Given the description of an element on the screen output the (x, y) to click on. 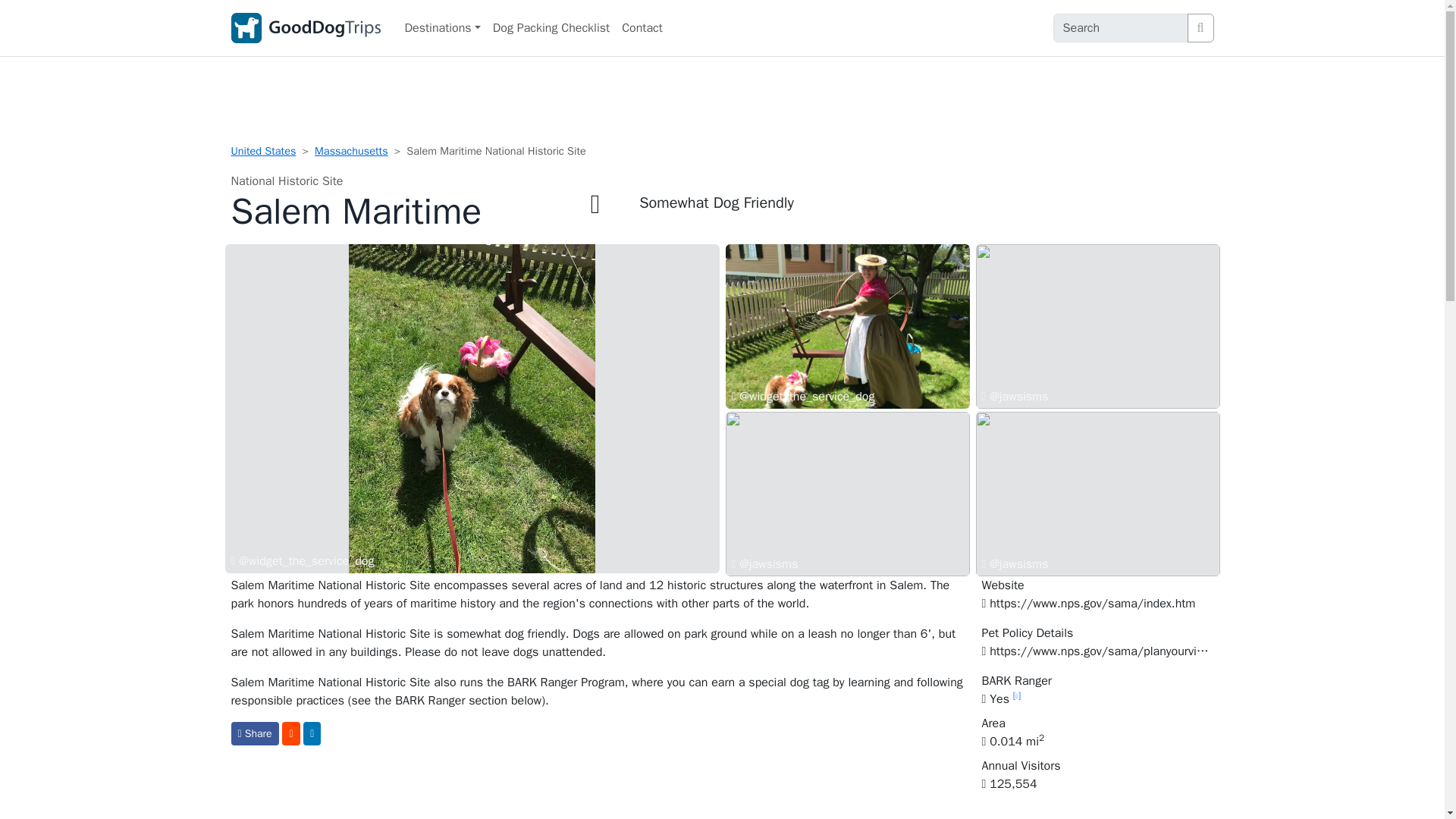
Destinations (442, 28)
Jump to BARK Ranger Policy (1000, 698)
Advertisement (721, 102)
Share on Facebook (254, 733)
